Given the description of an element on the screen output the (x, y) to click on. 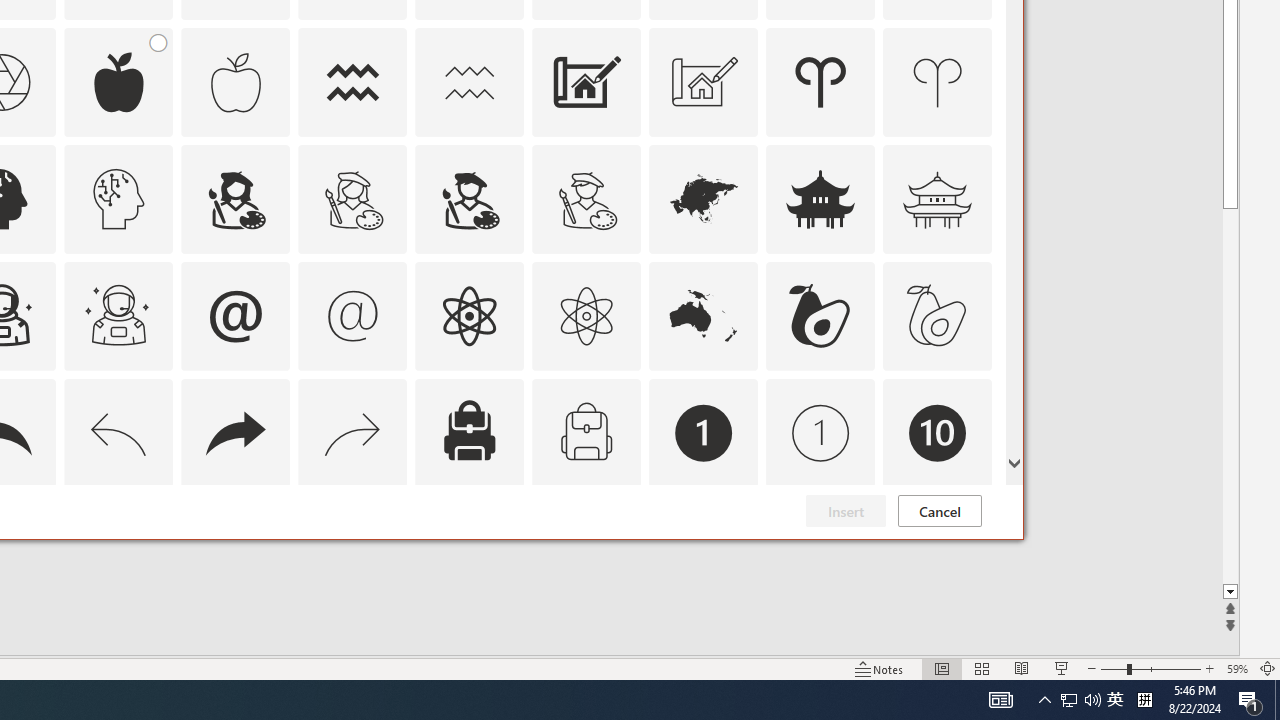
AutomationID: Icons_Badge8 (586, 550)
AutomationID: Icons_ArtistFemale_M (353, 198)
AutomationID: Icons_Aries (820, 82)
AutomationID: Icons_Atom_M (586, 316)
AutomationID: Icons_Architecture_M (703, 82)
